Given the description of an element on the screen output the (x, y) to click on. 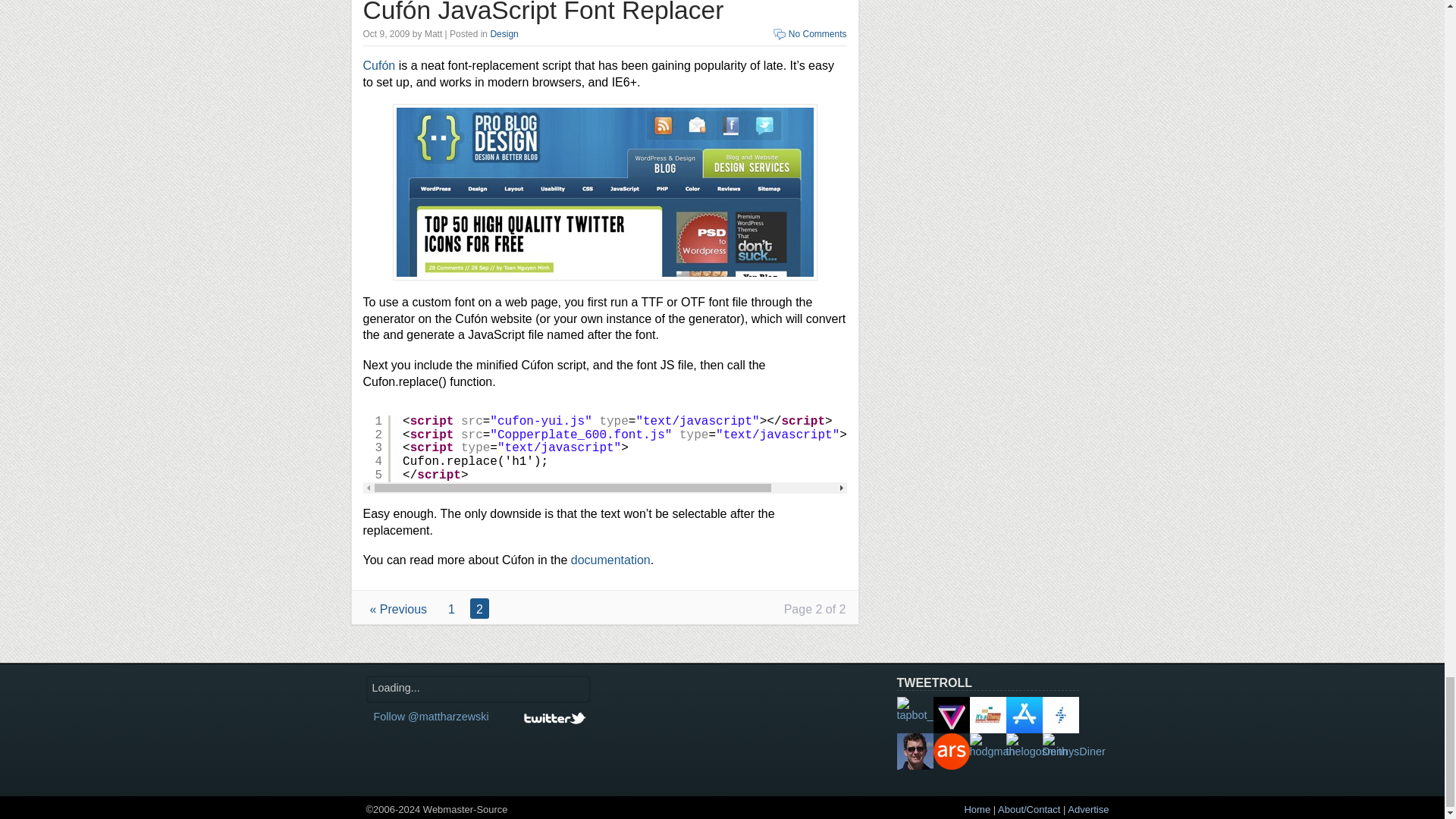
Cufon on ProBlogDesign.com (604, 192)
Page 1 (451, 608)
